Given the description of an element on the screen output the (x, y) to click on. 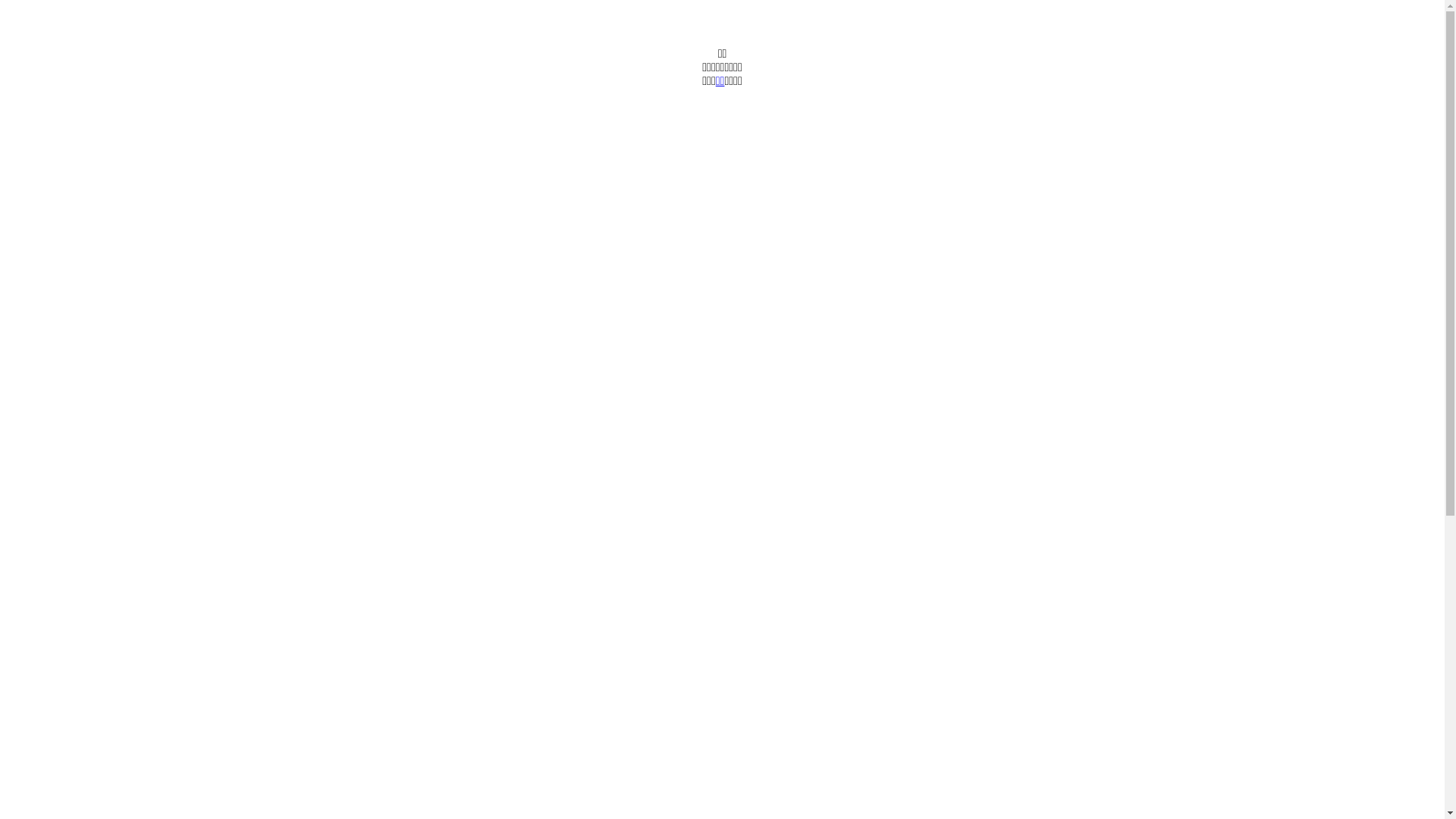
Advertisement Element type: hover (461, 193)
Advertisement Element type: hover (461, 497)
